Given the description of an element on the screen output the (x, y) to click on. 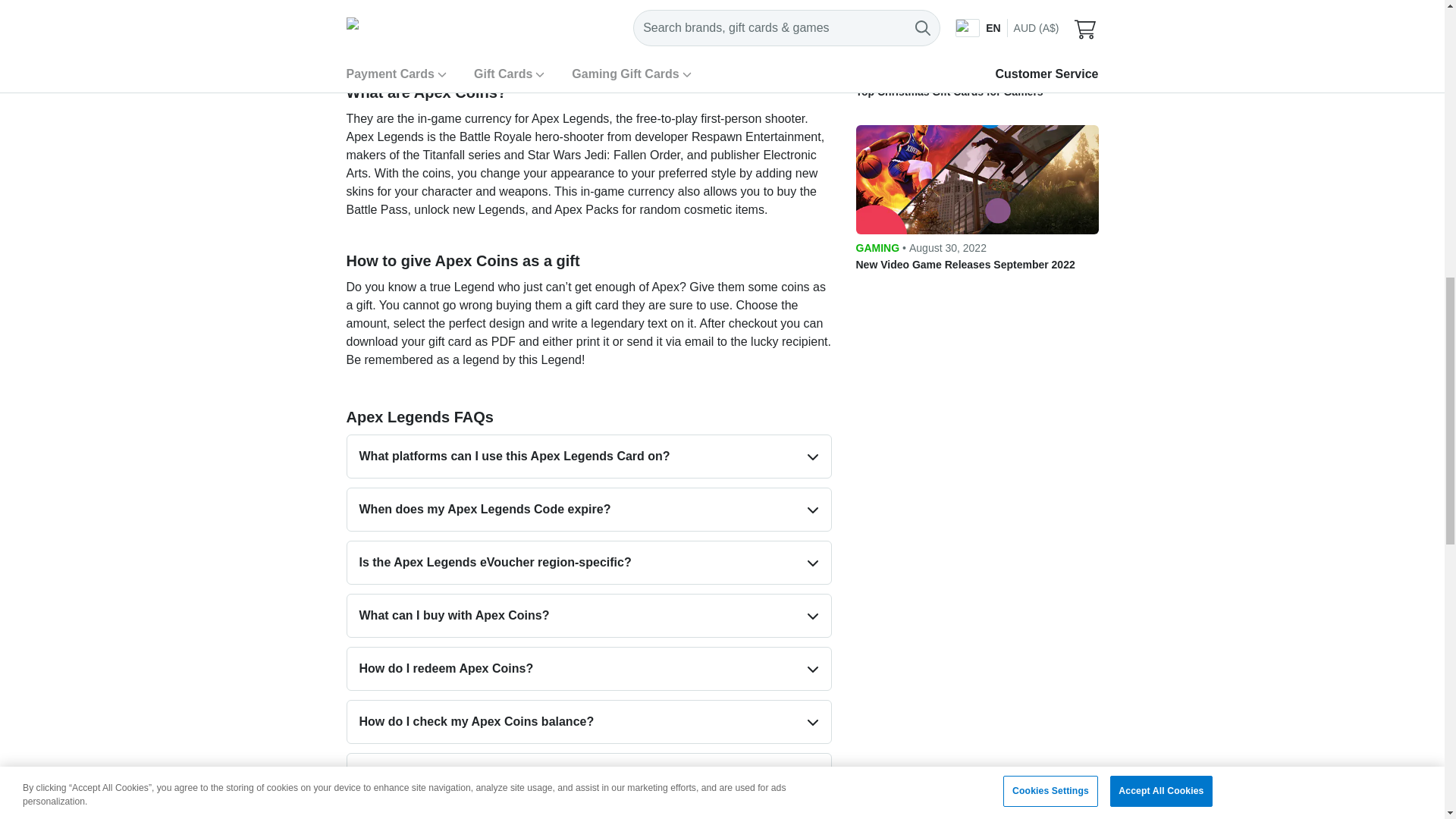
When does my Apex Legends Code expire? (589, 509)
What can I buy with Apex Coins? (589, 615)
How do I check my Apex Coins balance? (589, 721)
How do I contact Apex Legends Customer Service? (589, 774)
Is the Apex Legends eVoucher region-specific? (589, 562)
What platforms can I use this Apex Legends Card on? (589, 455)
How do I redeem Apex Coins? (589, 668)
